Given the description of an element on the screen output the (x, y) to click on. 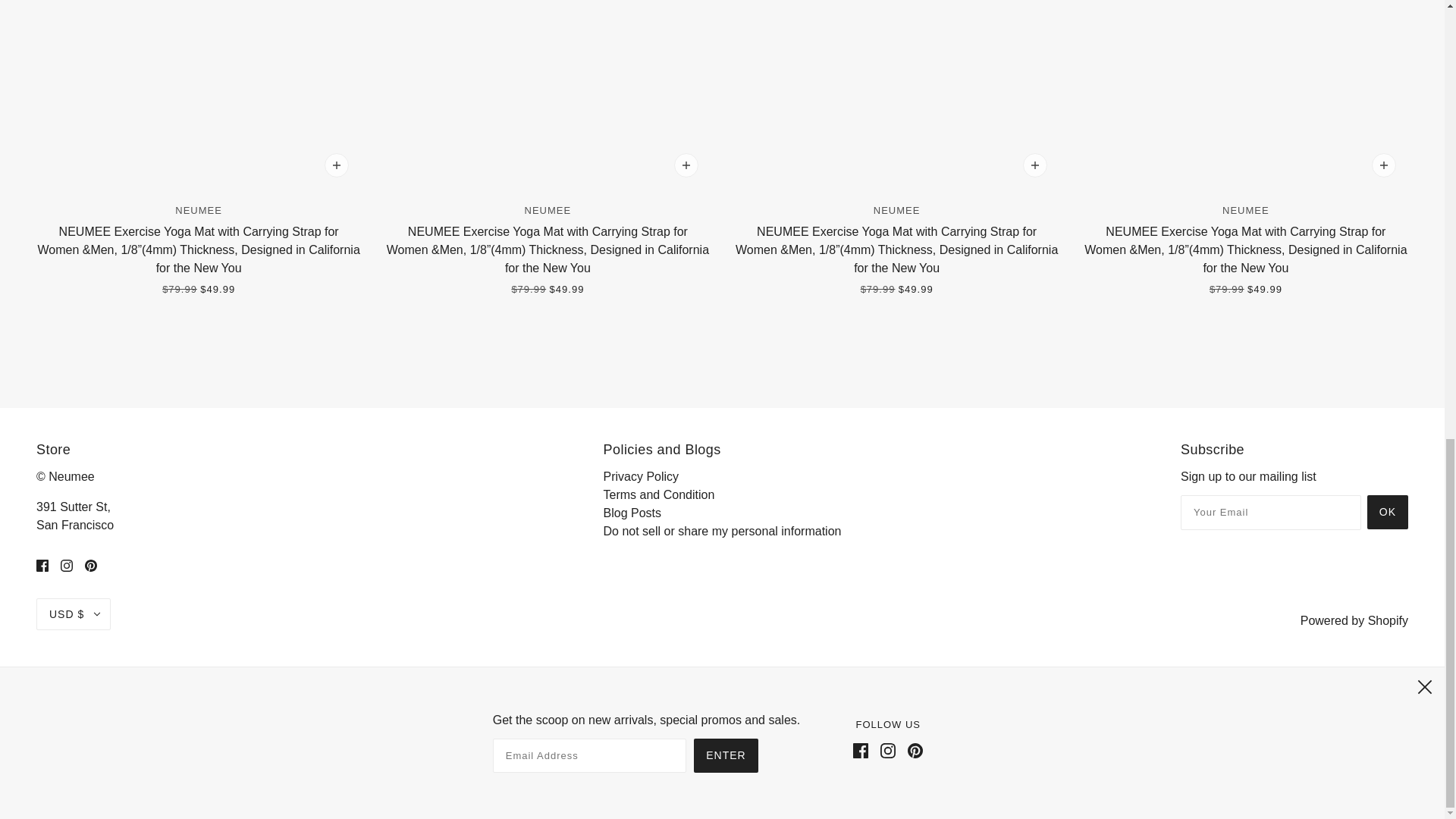
Do not sell or share my personal information (722, 530)
Terms and Condition (659, 494)
Privacy Policy (641, 476)
Blog Posts (632, 512)
